Given the description of an element on the screen output the (x, y) to click on. 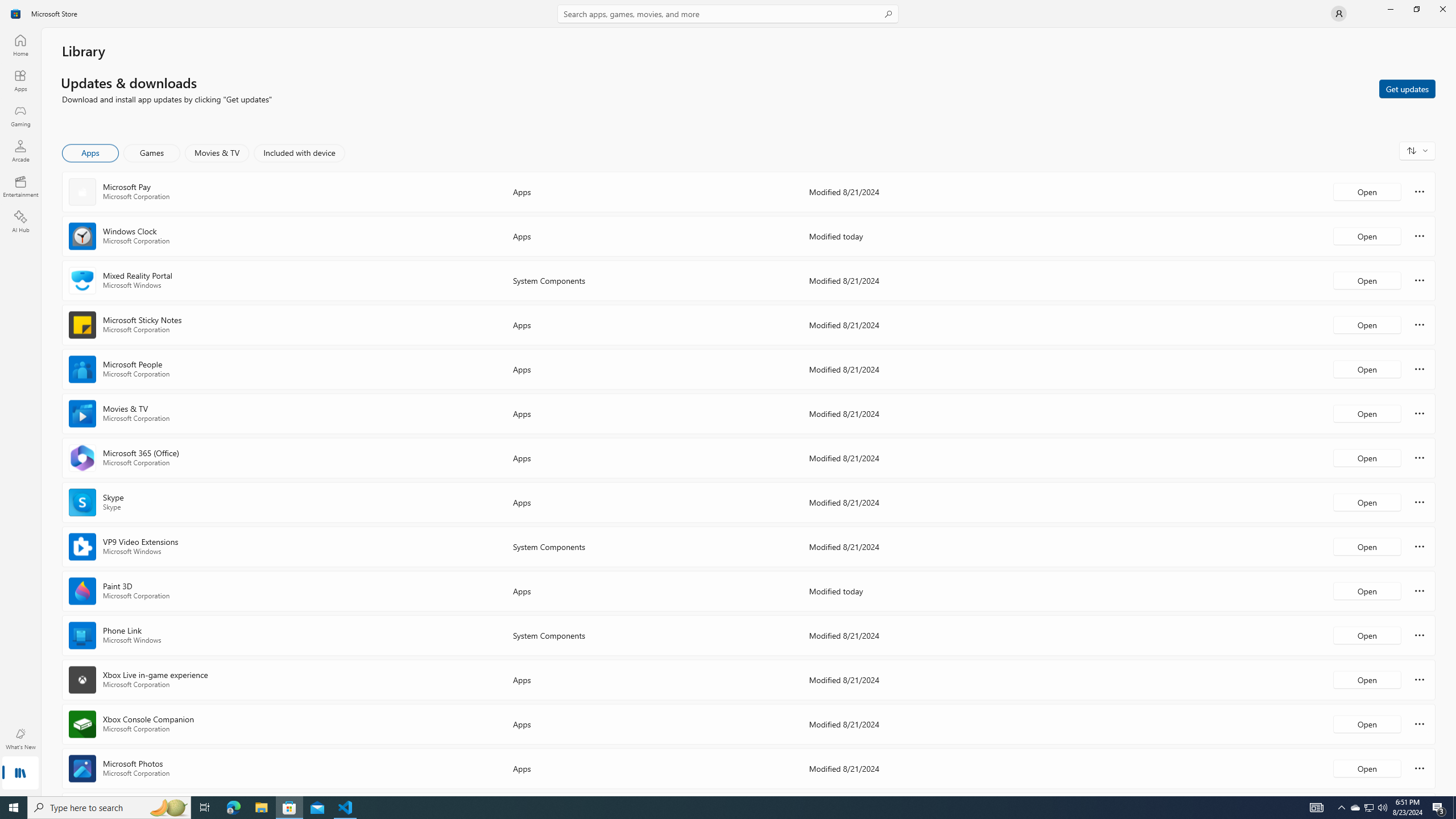
Entertainment (20, 185)
AutomationID: NavigationControl (728, 398)
Search (727, 13)
Arcade (20, 150)
More options (1419, 768)
Apps (20, 80)
Apps (90, 153)
Get updates (1406, 88)
